Given the description of an element on the screen output the (x, y) to click on. 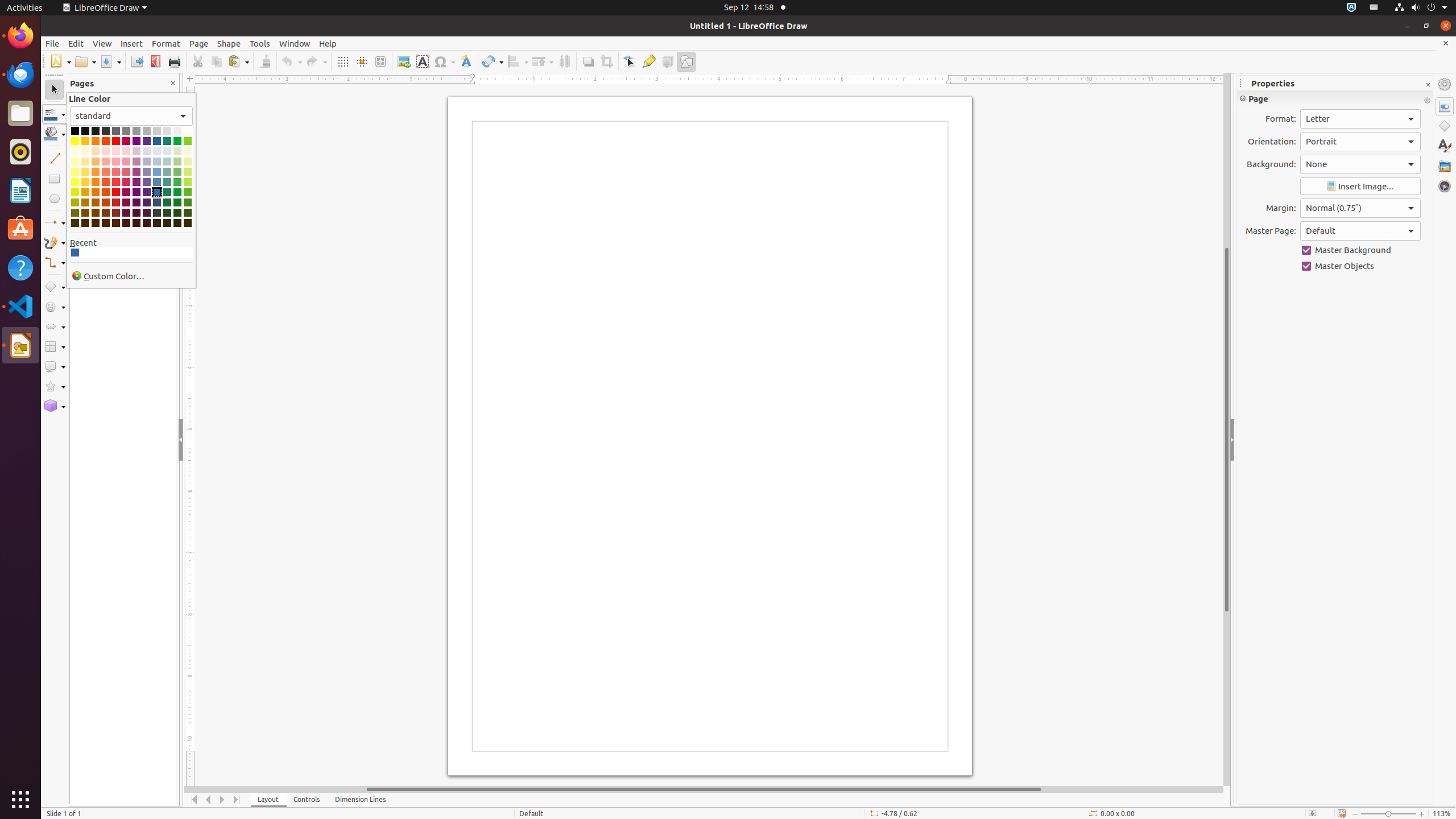
Insert Element type: menu (131, 43)
Connectors Element type: push-button (54, 262)
Dark Gold 3 Element type: list-item (85, 212)
Light Brick 4 Element type: list-item (105, 151)
Light Magenta 1 Element type: list-item (126, 181)
